Given the description of an element on the screen output the (x, y) to click on. 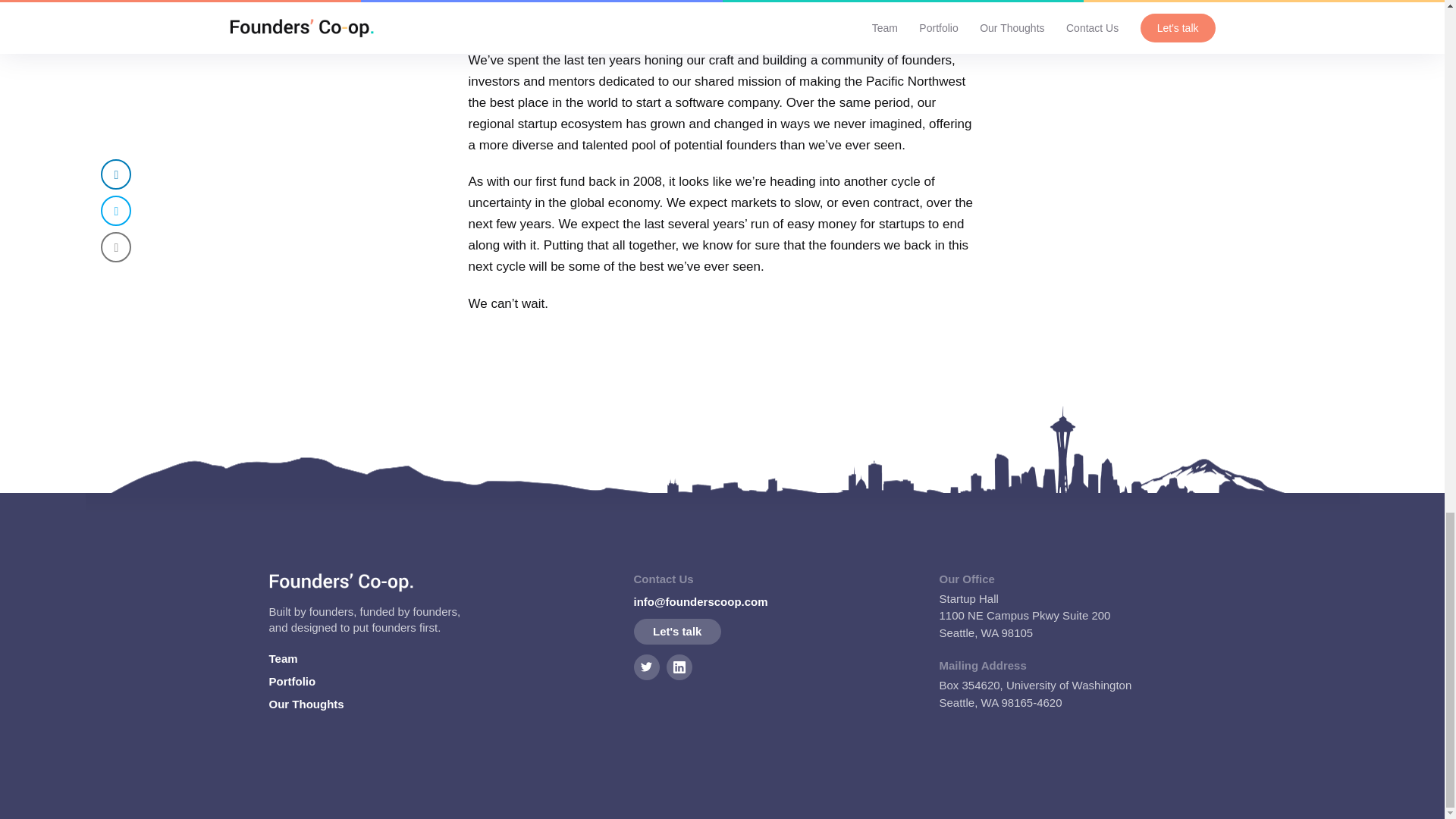
Let's talk (676, 632)
Our Thoughts (305, 703)
Portfolio (291, 681)
Team (282, 658)
